Given the description of an element on the screen output the (x, y) to click on. 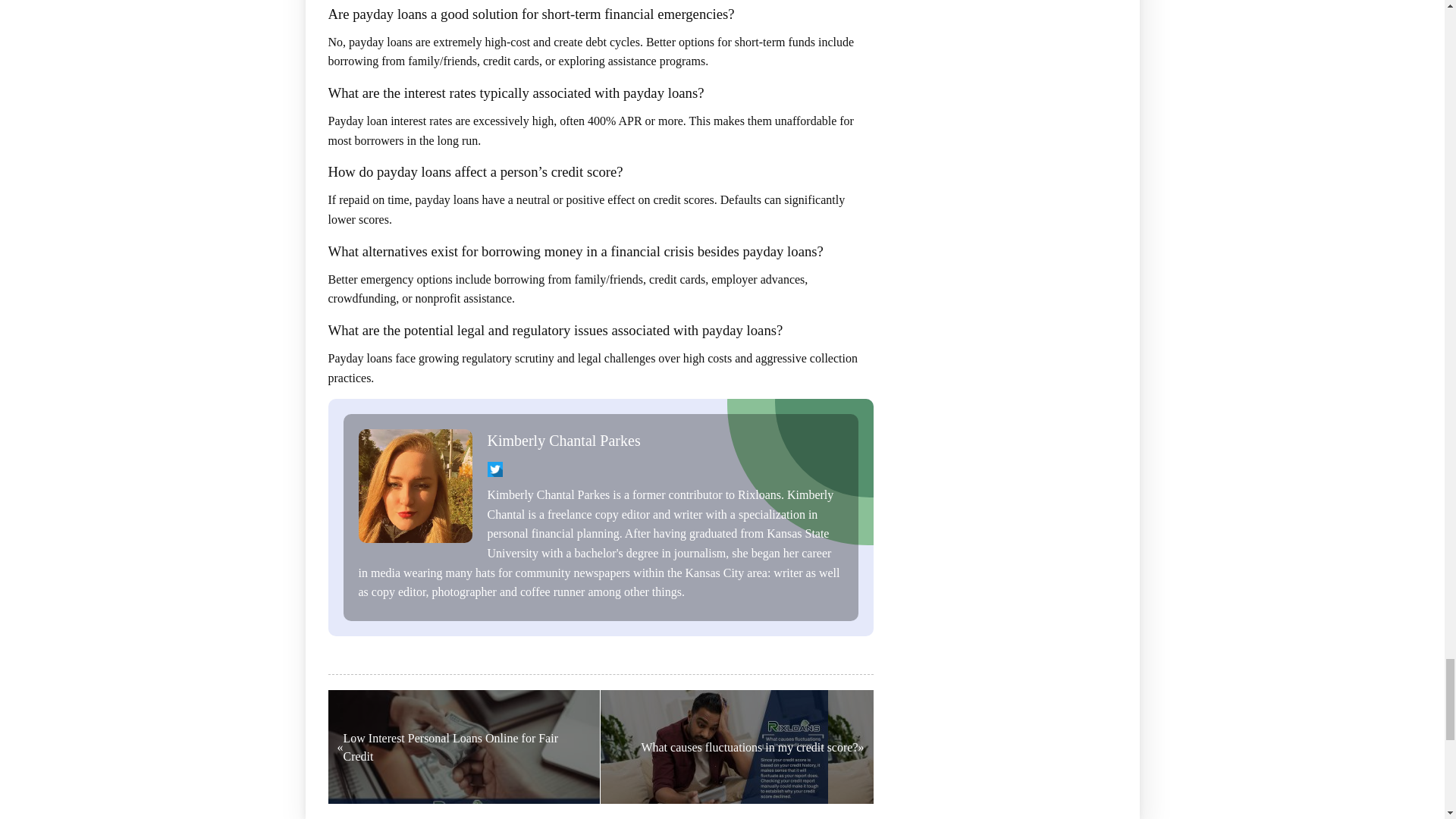
Low Interest Personal Loans Online for Fair Credit (463, 746)
What causes fluctuations in my credit score? (736, 746)
